Given the description of an element on the screen output the (x, y) to click on. 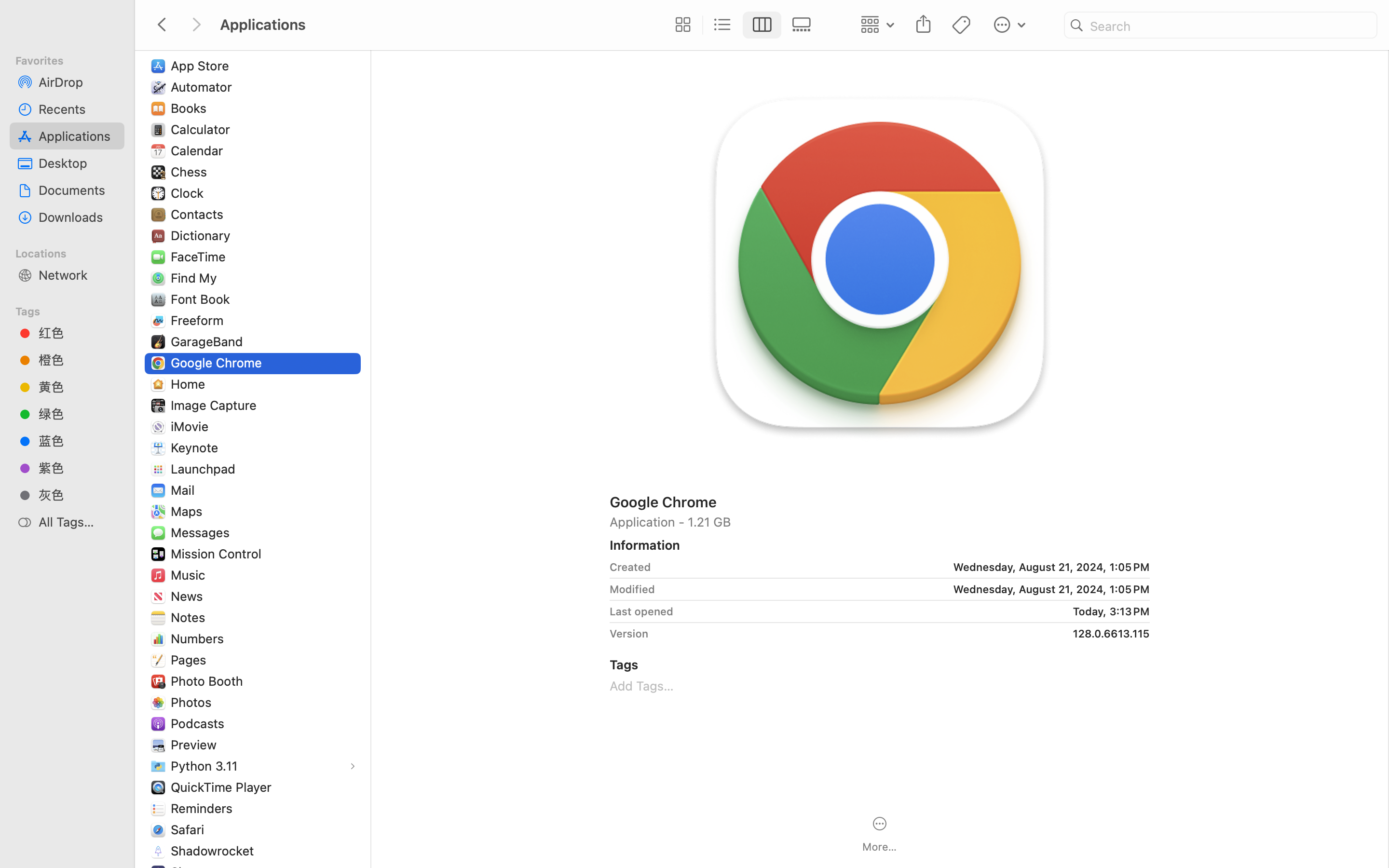
Maps Element type: AXTextField (188, 510)
